Given the description of an element on the screen output the (x, y) to click on. 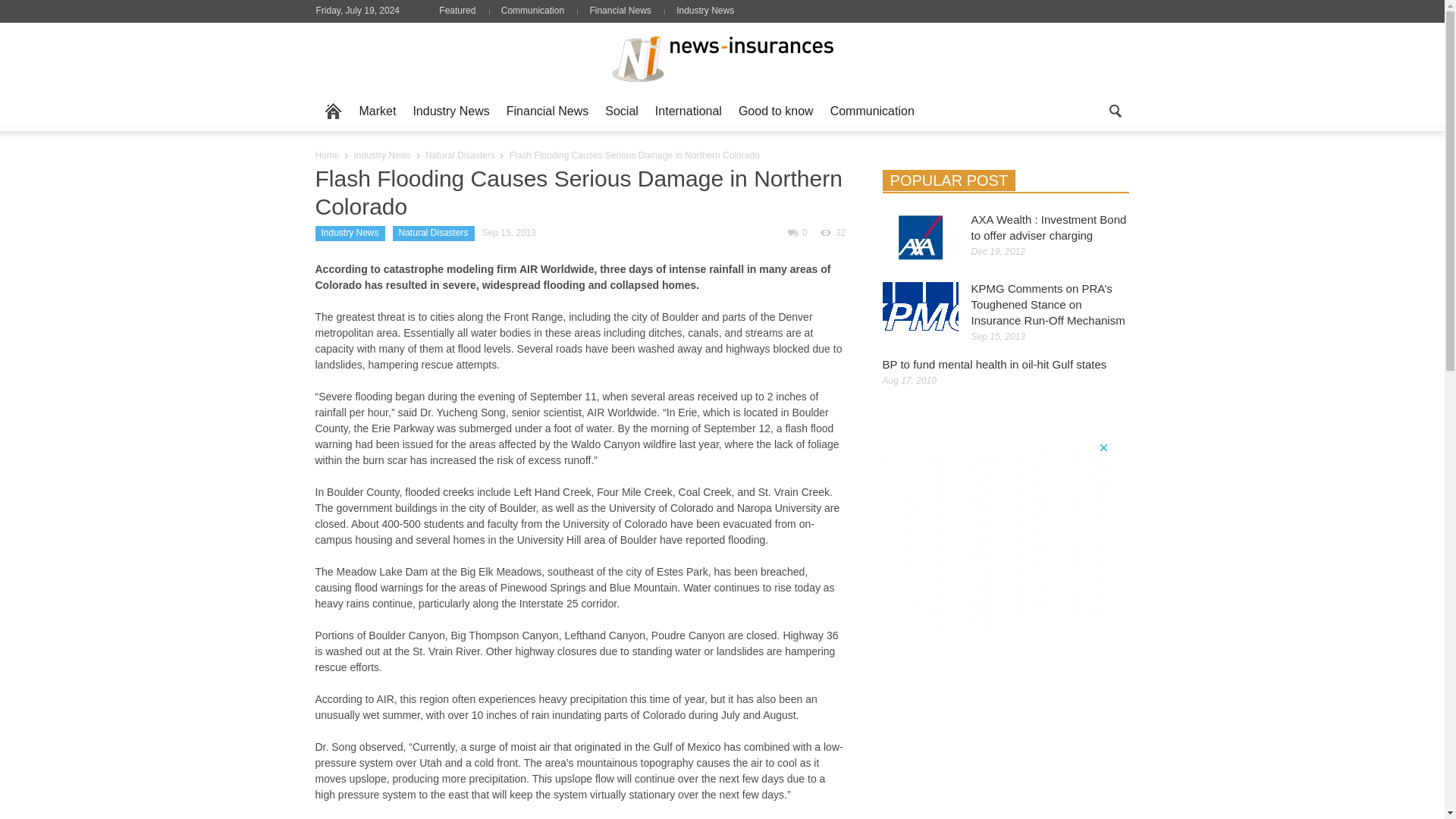
Financial News (620, 9)
Industry News (705, 9)
News Insurances (721, 56)
Communication (532, 9)
Featured (462, 9)
Industry News (450, 111)
Market (377, 111)
